Given the description of an element on the screen output the (x, y) to click on. 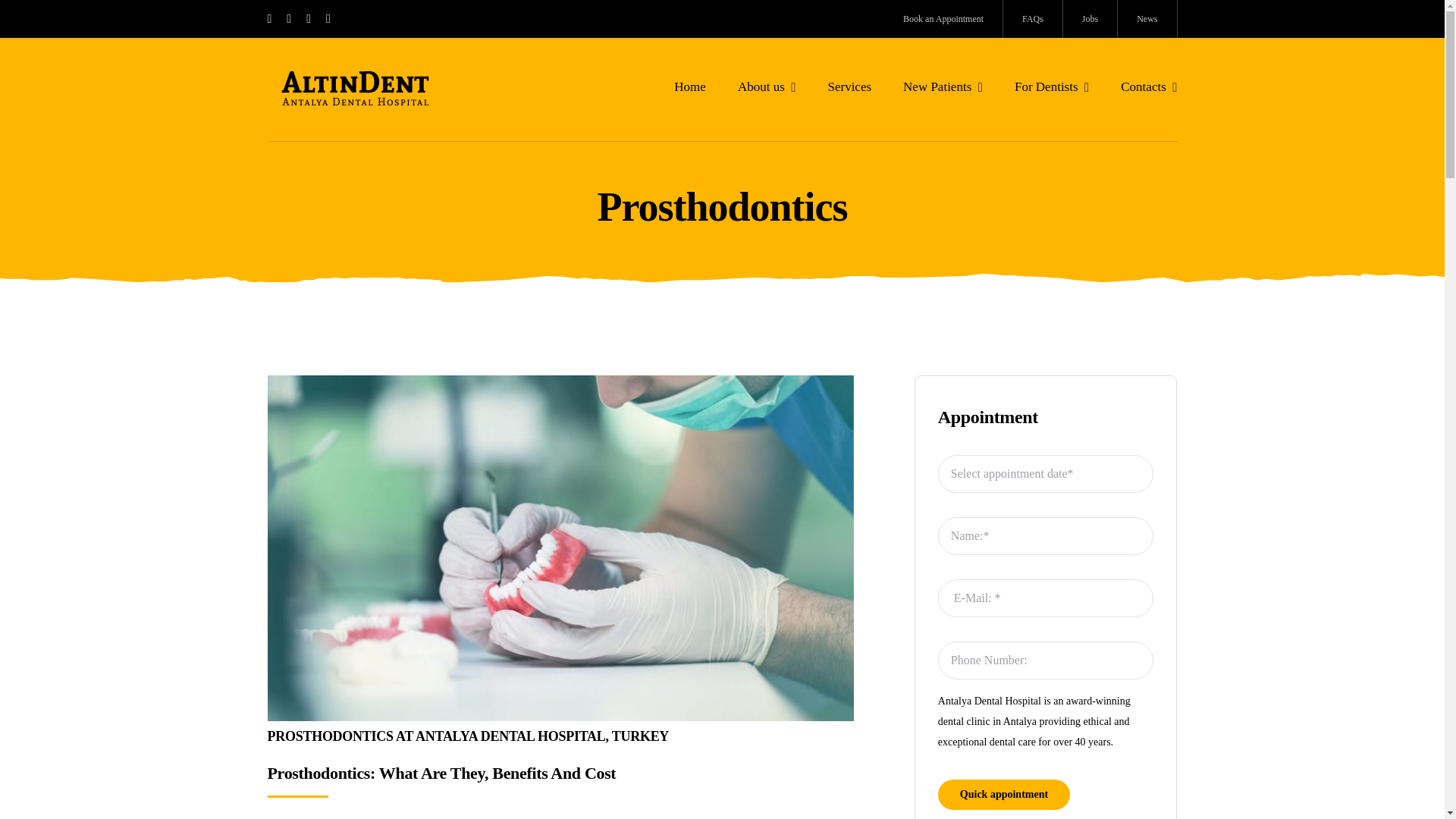
About us (767, 86)
News (1147, 18)
Book an Appointment (943, 18)
FAQs (1032, 18)
New Patients (942, 86)
Services (848, 86)
Jobs (1090, 18)
